Given the description of an element on the screen output the (x, y) to click on. 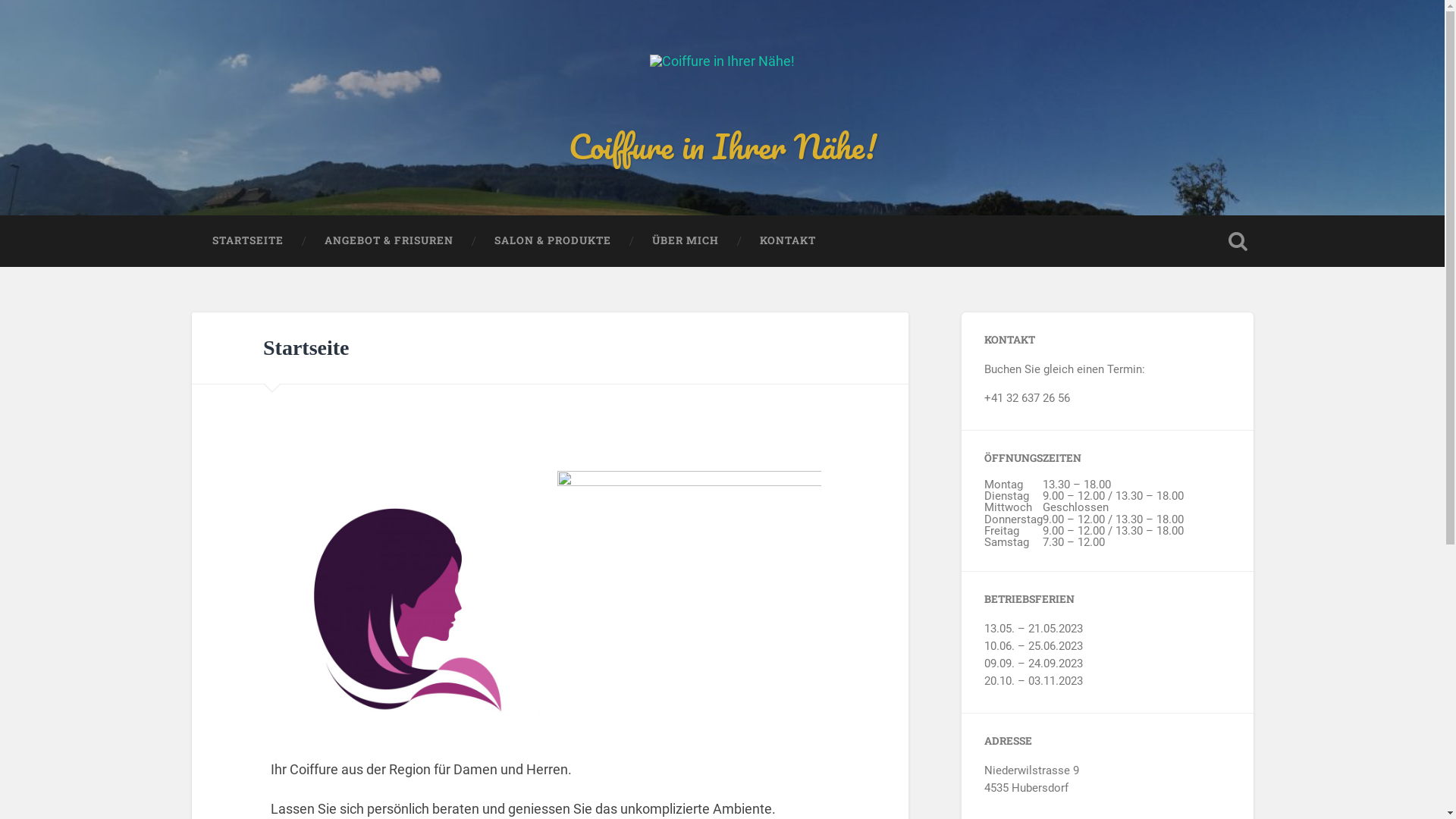
STARTSEITE Element type: text (247, 240)
ANGEBOT & FRISUREN Element type: text (388, 240)
SALON & PRODUKTE Element type: text (551, 240)
KONTAKT Element type: text (786, 240)
